Given the description of an element on the screen output the (x, y) to click on. 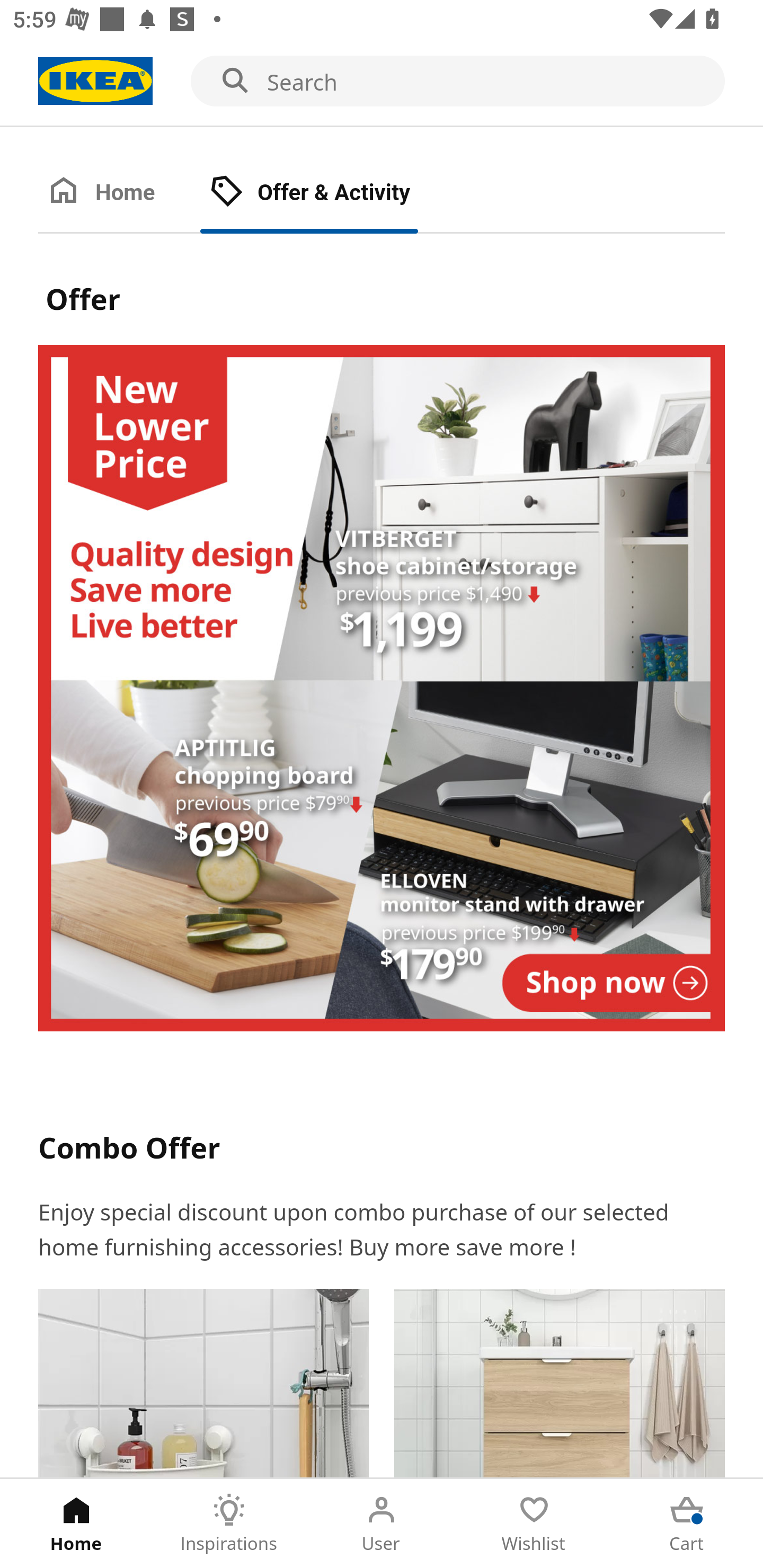
Search (381, 81)
Home
Tab 1 of 2 (118, 192)
Offer & Activity
Tab 2 of 2 (327, 192)
Home
Tab 1 of 5 (76, 1522)
Inspirations
Tab 2 of 5 (228, 1522)
User
Tab 3 of 5 (381, 1522)
Wishlist
Tab 4 of 5 (533, 1522)
Cart
Tab 5 of 5 (686, 1522)
